Given the description of an element on the screen output the (x, y) to click on. 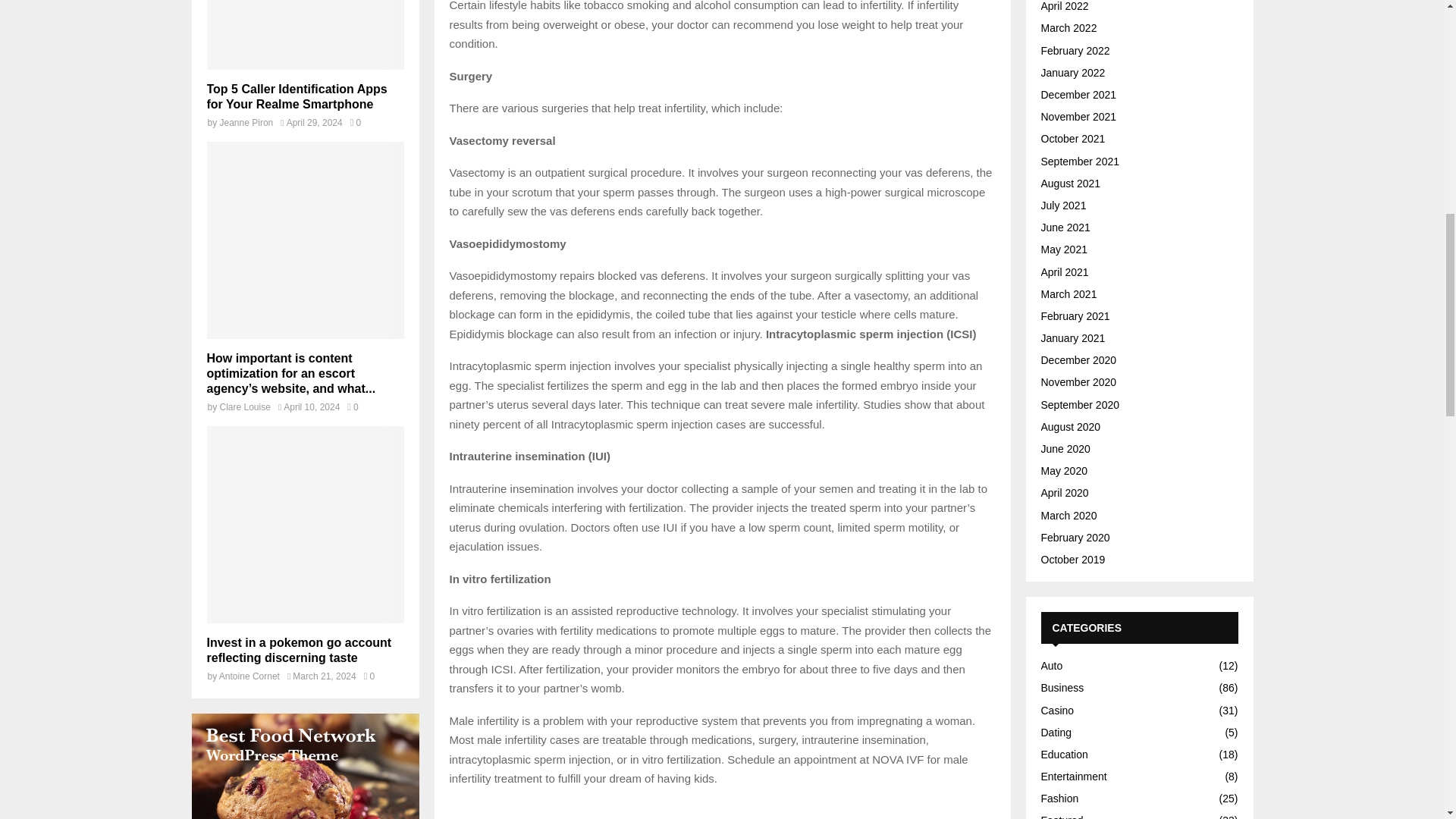
 Invest in a pokemon go account reflecting discerning taste  (298, 650)
Top 5 Caller Identification Apps for Your Realme Smartphone (304, 34)
Invest in a pokemon go account reflecting discerning taste (304, 524)
